Given the description of an element on the screen output the (x, y) to click on. 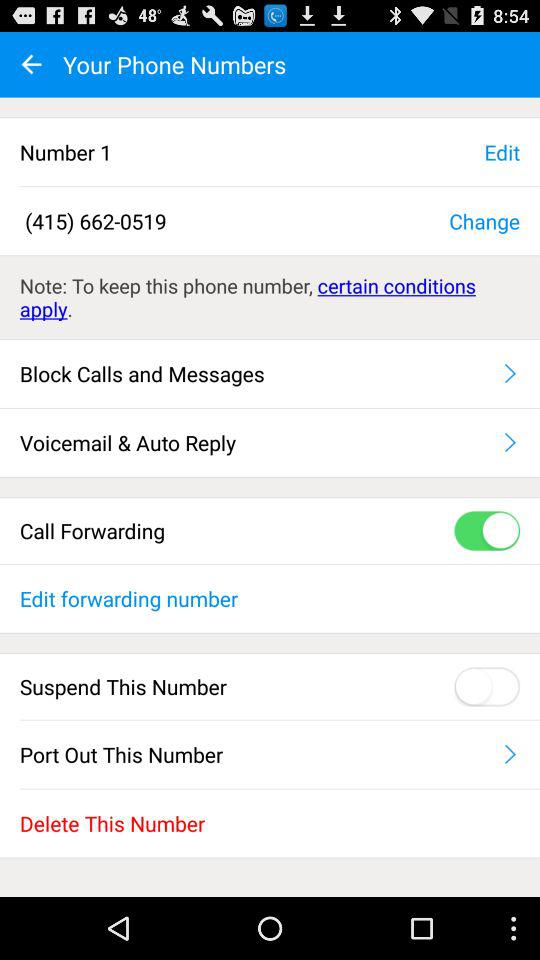
open the change app (484, 220)
